Given the description of an element on the screen output the (x, y) to click on. 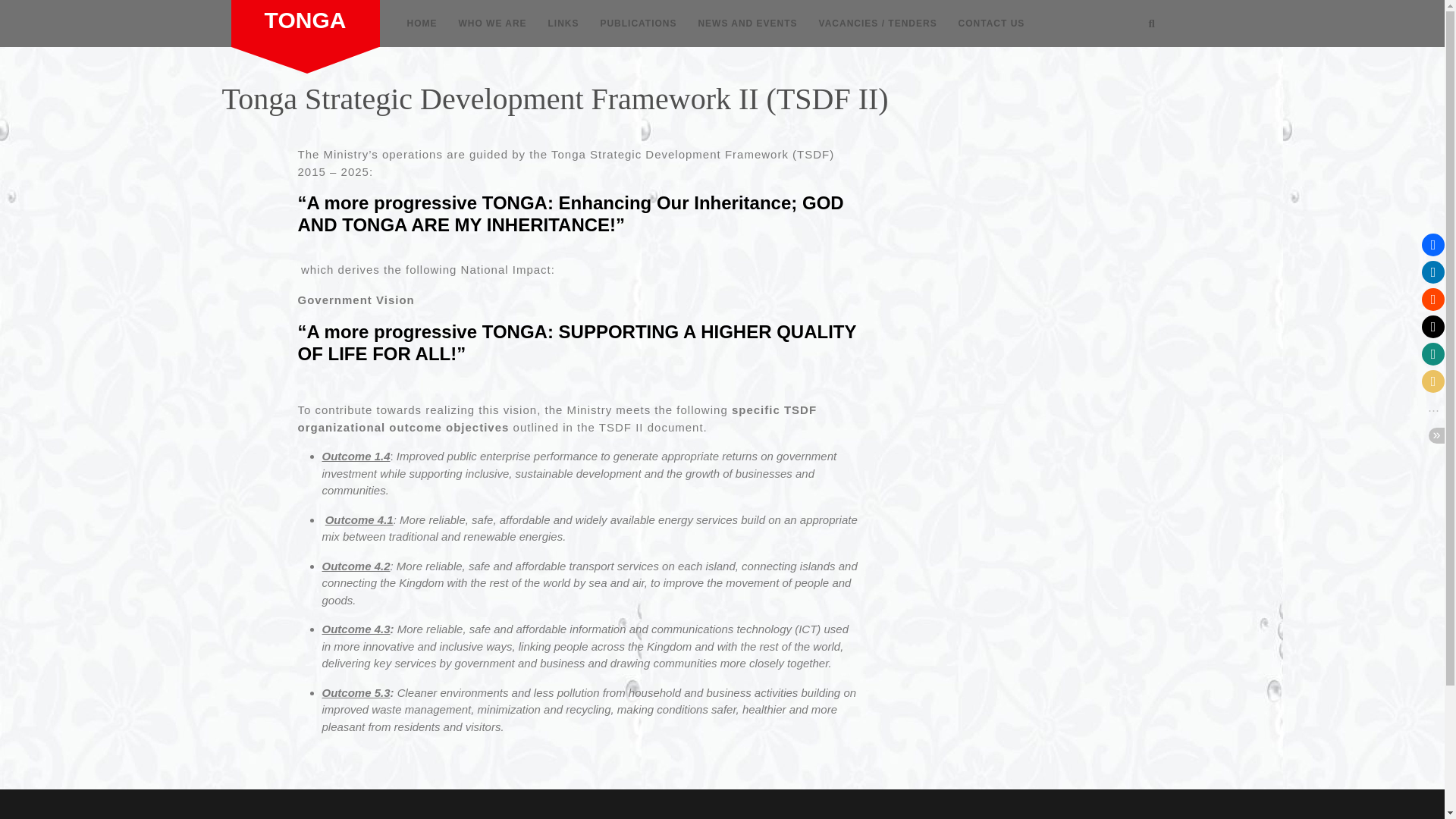
NEWS AND EVENTS (747, 23)
HOME (421, 23)
LINKS (563, 23)
TONGA (305, 19)
PUBLICATIONS (638, 23)
WHO WE ARE (491, 23)
CONTACT US (991, 23)
